Given the description of an element on the screen output the (x, y) to click on. 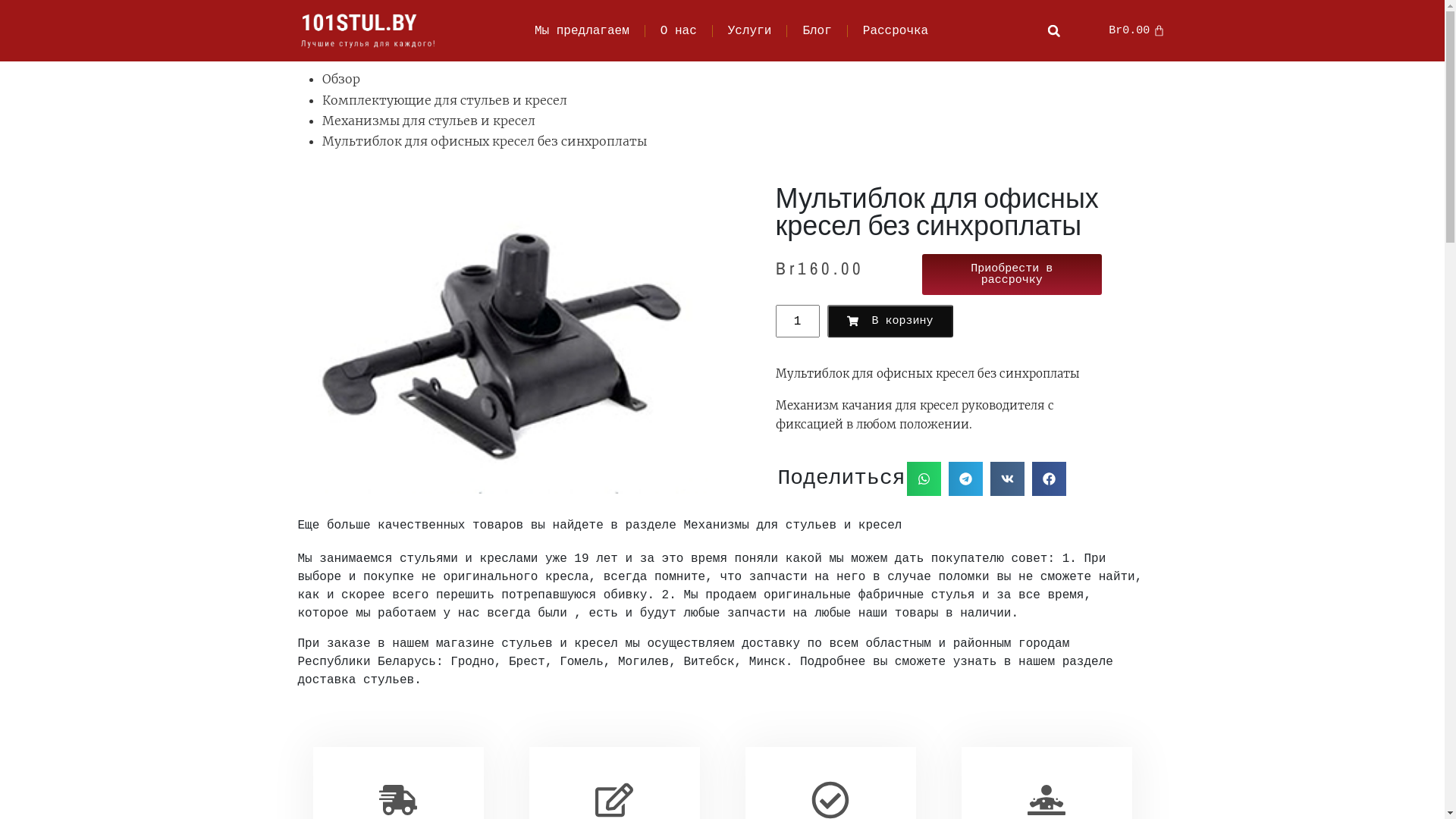
Qty Element type: hover (797, 320)
Br0.00 Element type: text (1136, 30)
